Given the description of an element on the screen output the (x, y) to click on. 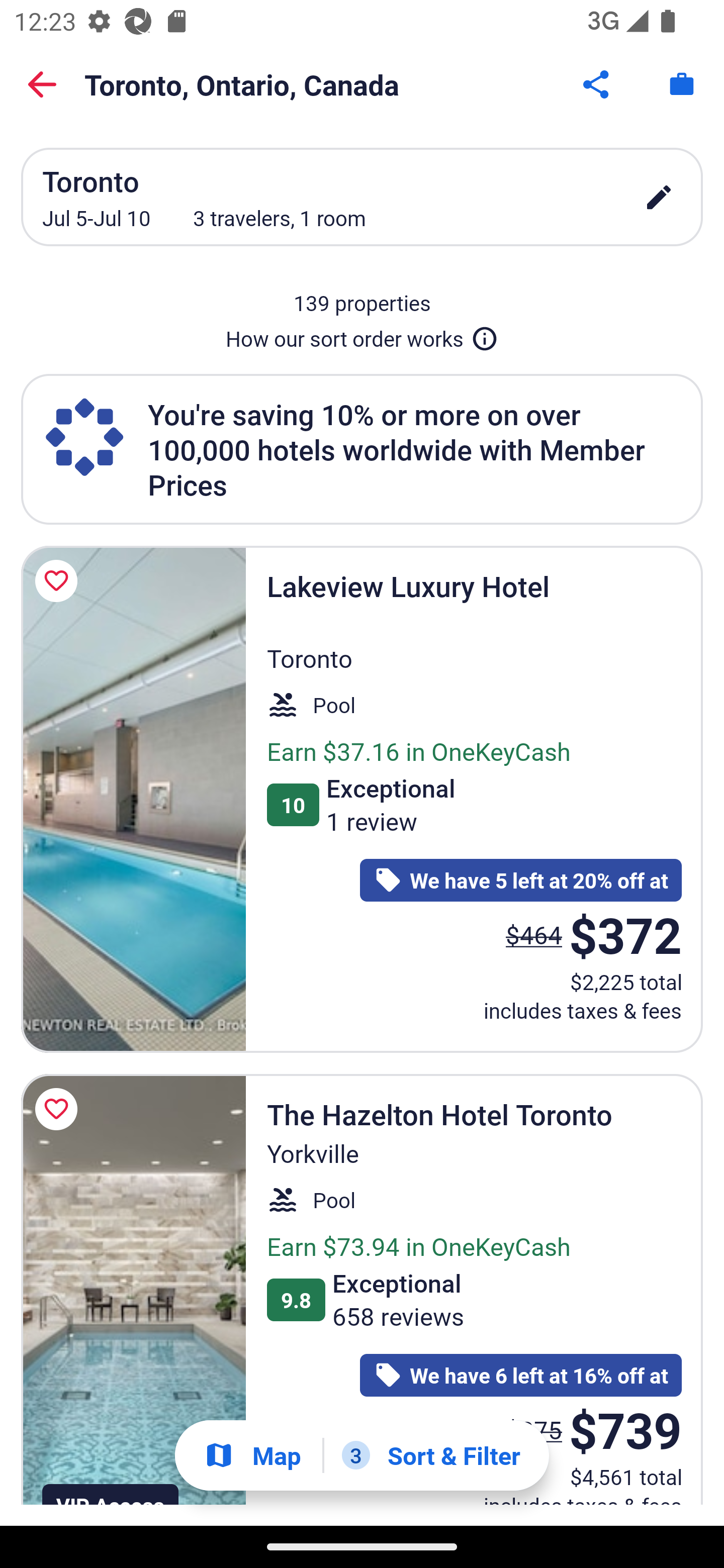
Back (42, 84)
Share Button (597, 84)
Trips. Button (681, 84)
Toronto Jul 5-Jul 10 3 travelers, 1 room edit (361, 196)
How our sort order works (361, 334)
Save Lakeview Luxury Hotel to a trip (59, 580)
Lakeview Luxury Hotel (133, 798)
$464 The price was $464 (533, 934)
Save The Hazelton Hotel Toronto to a trip (59, 1108)
The Hazelton Hotel Toronto (133, 1289)
3 Sort & Filter 3 Filters applied. Filters Button (430, 1455)
Show map Map Show map Button (252, 1455)
